Given the description of an element on the screen output the (x, y) to click on. 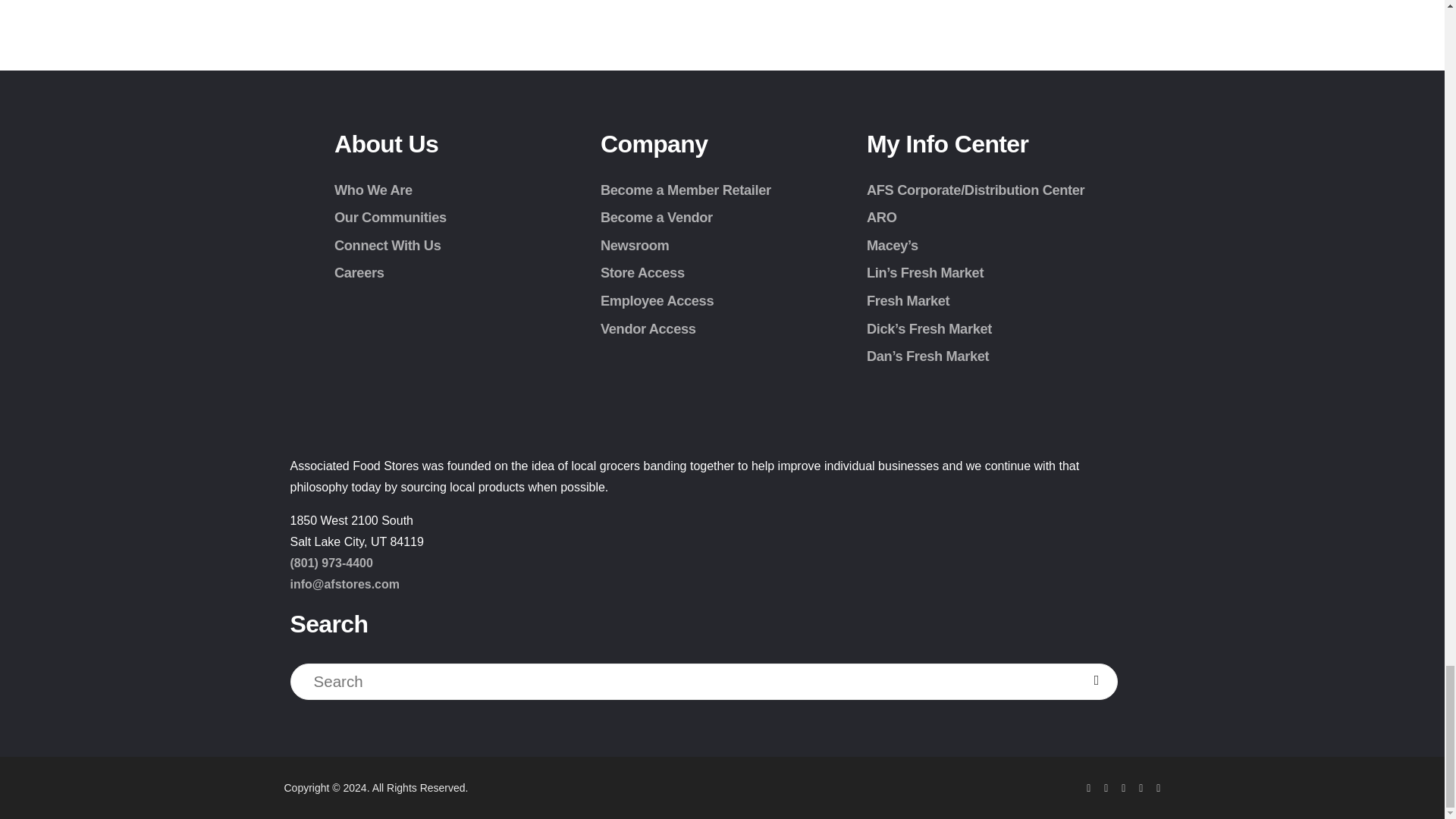
Become a Member Retailer (685, 189)
Who We Are (373, 189)
Our Communities (390, 217)
Careers (359, 272)
Store Access (641, 272)
Connect With Us (387, 245)
Become a Vendor (656, 217)
Newsroom (633, 245)
Employee Access (656, 300)
Vendor Access (647, 328)
